Given the description of an element on the screen output the (x, y) to click on. 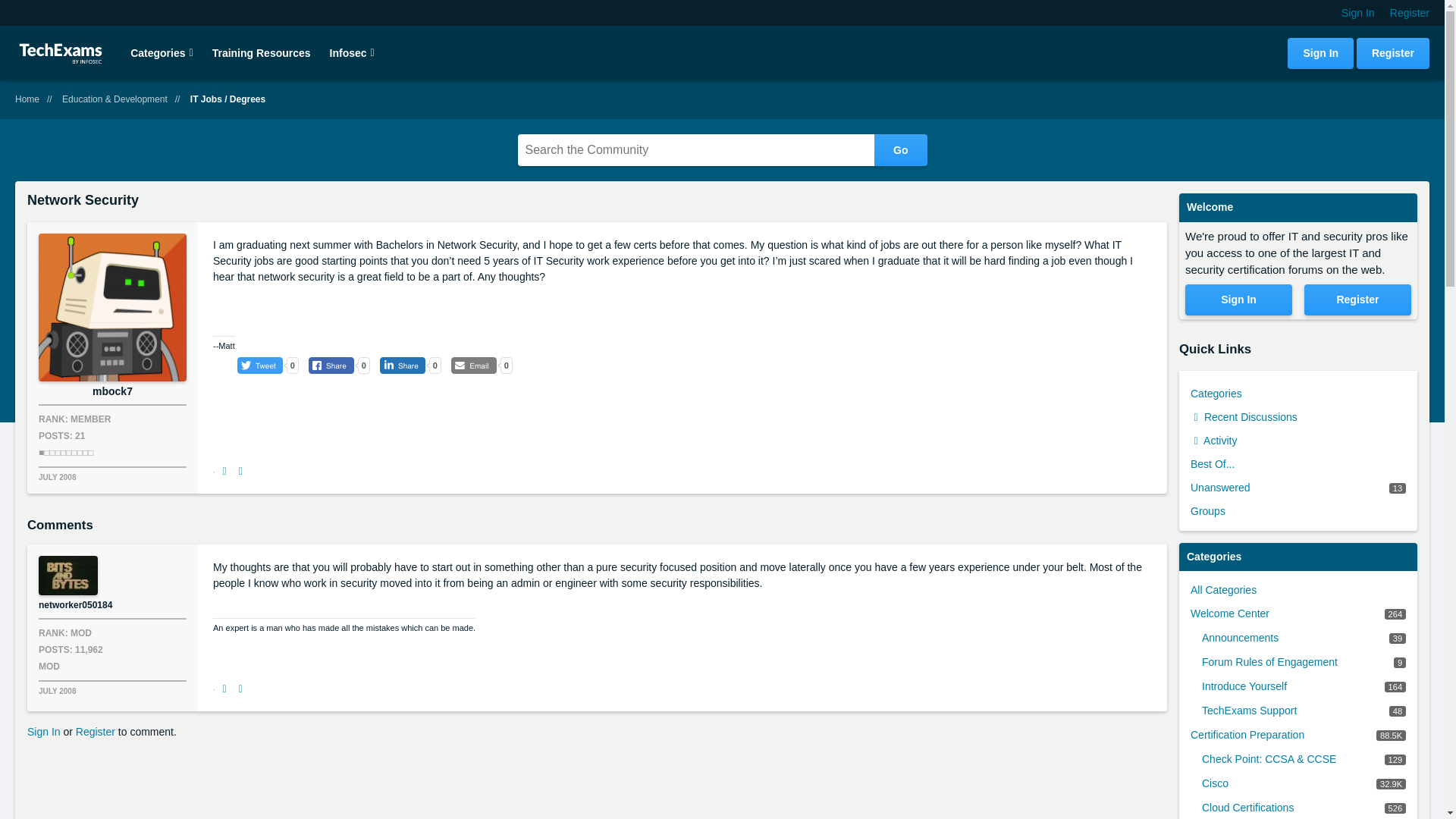
Enter your search term. (721, 150)
264 discussions (1396, 614)
networker050184 (68, 575)
Categories (161, 52)
39 discussions (1397, 637)
JULY 2008 (112, 478)
mbock7 (112, 307)
Moderator (49, 665)
164 discussions (1396, 686)
mbock7 (112, 390)
